Given the description of an element on the screen output the (x, y) to click on. 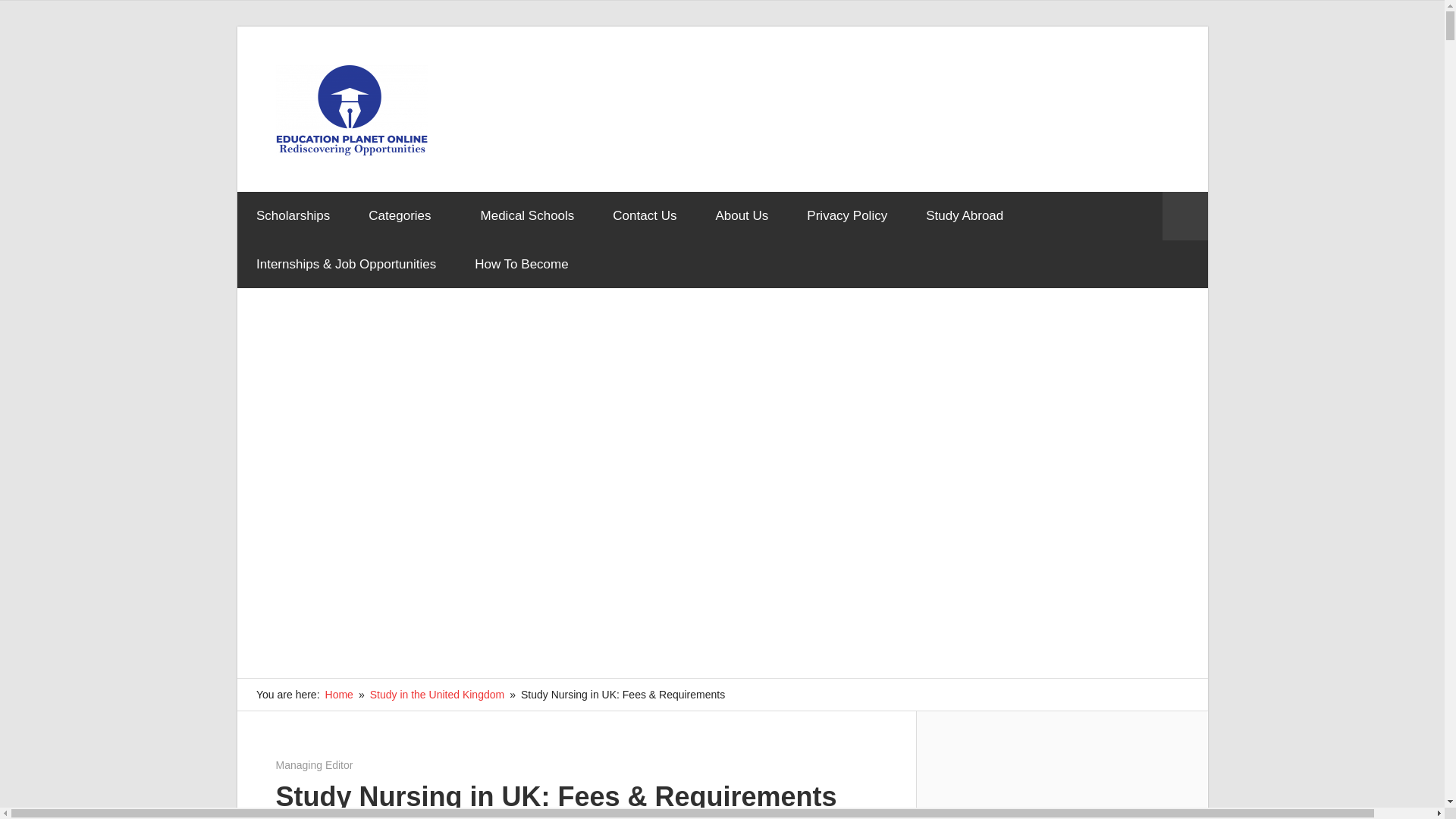
Categories (405, 215)
Medical Schools (527, 215)
November 5, 2021 (319, 764)
Study Abroad (965, 215)
Privacy Policy (847, 215)
Scholarships (292, 215)
About Us (741, 215)
Managing Editor (314, 764)
View all posts by Managing Editor (314, 764)
